Given the description of an element on the screen output the (x, y) to click on. 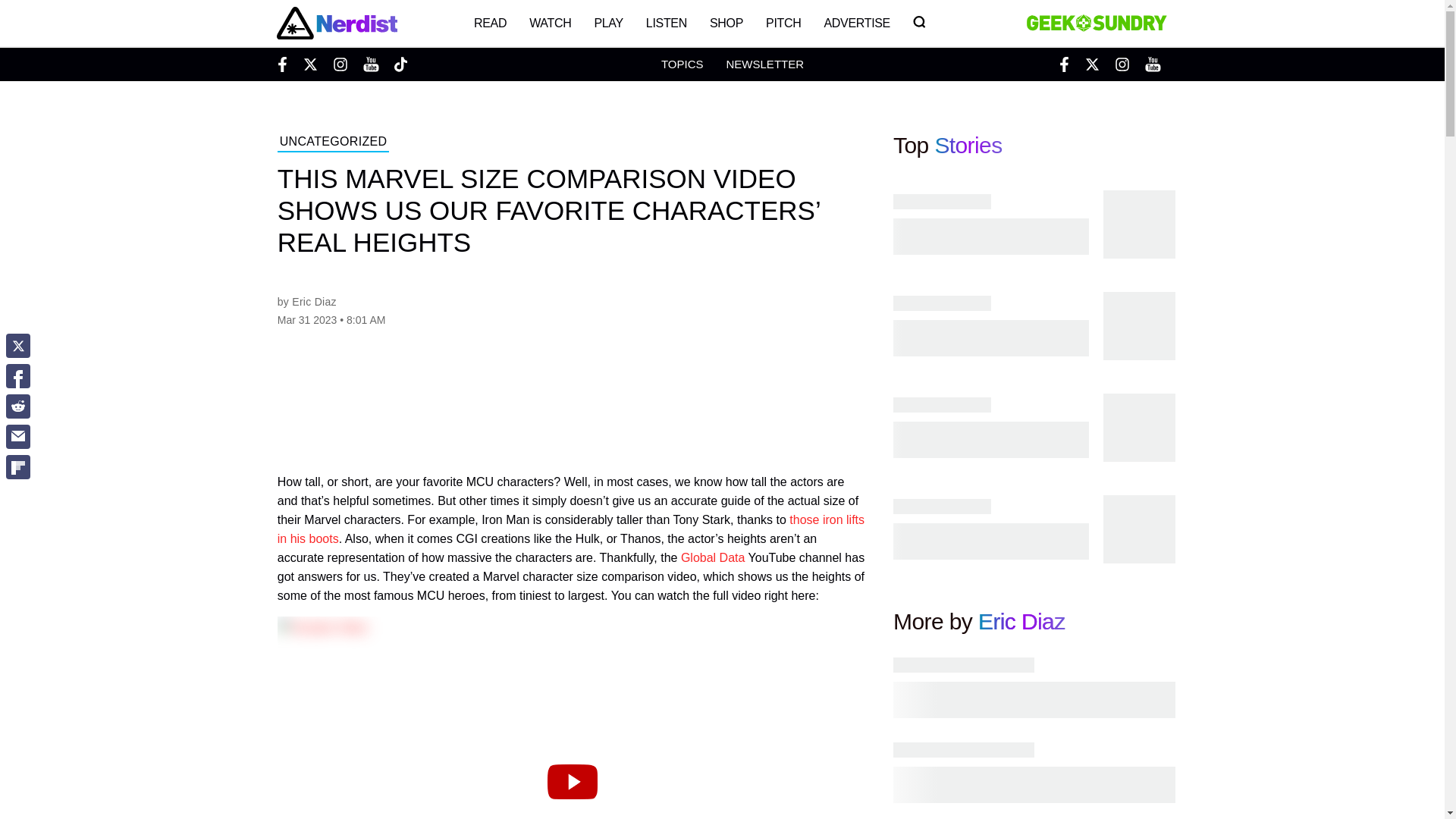
Nerdist (336, 23)
READ (490, 22)
those iron lifts in his boots (571, 529)
Topics (681, 63)
Eric Diaz (1021, 621)
Global Data (713, 557)
LISTEN (666, 22)
Youtube Nerdist (370, 63)
WATCH (550, 22)
SHOP (726, 22)
